Given the description of an element on the screen output the (x, y) to click on. 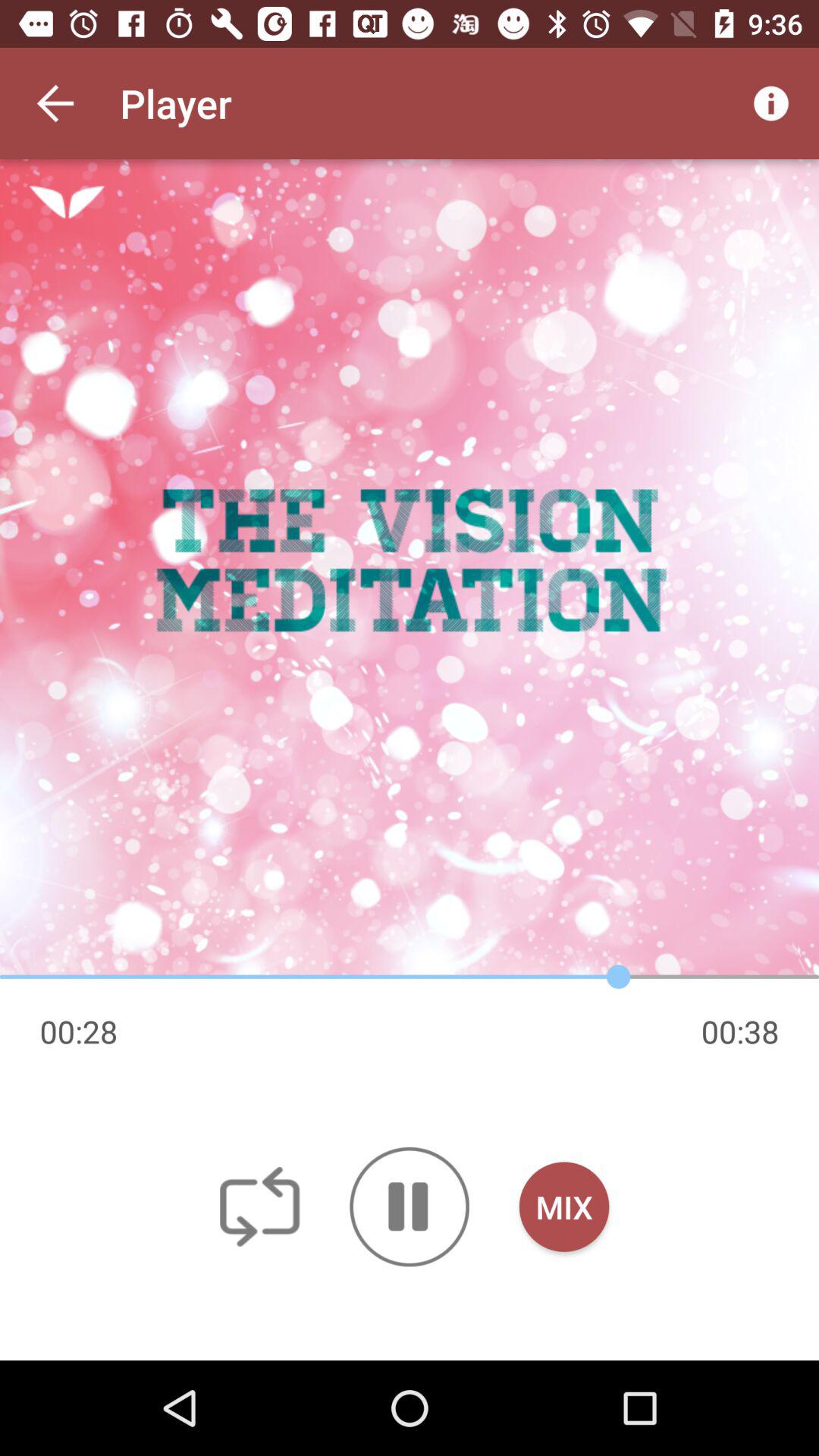
click app next to player app (771, 103)
